Given the description of an element on the screen output the (x, y) to click on. 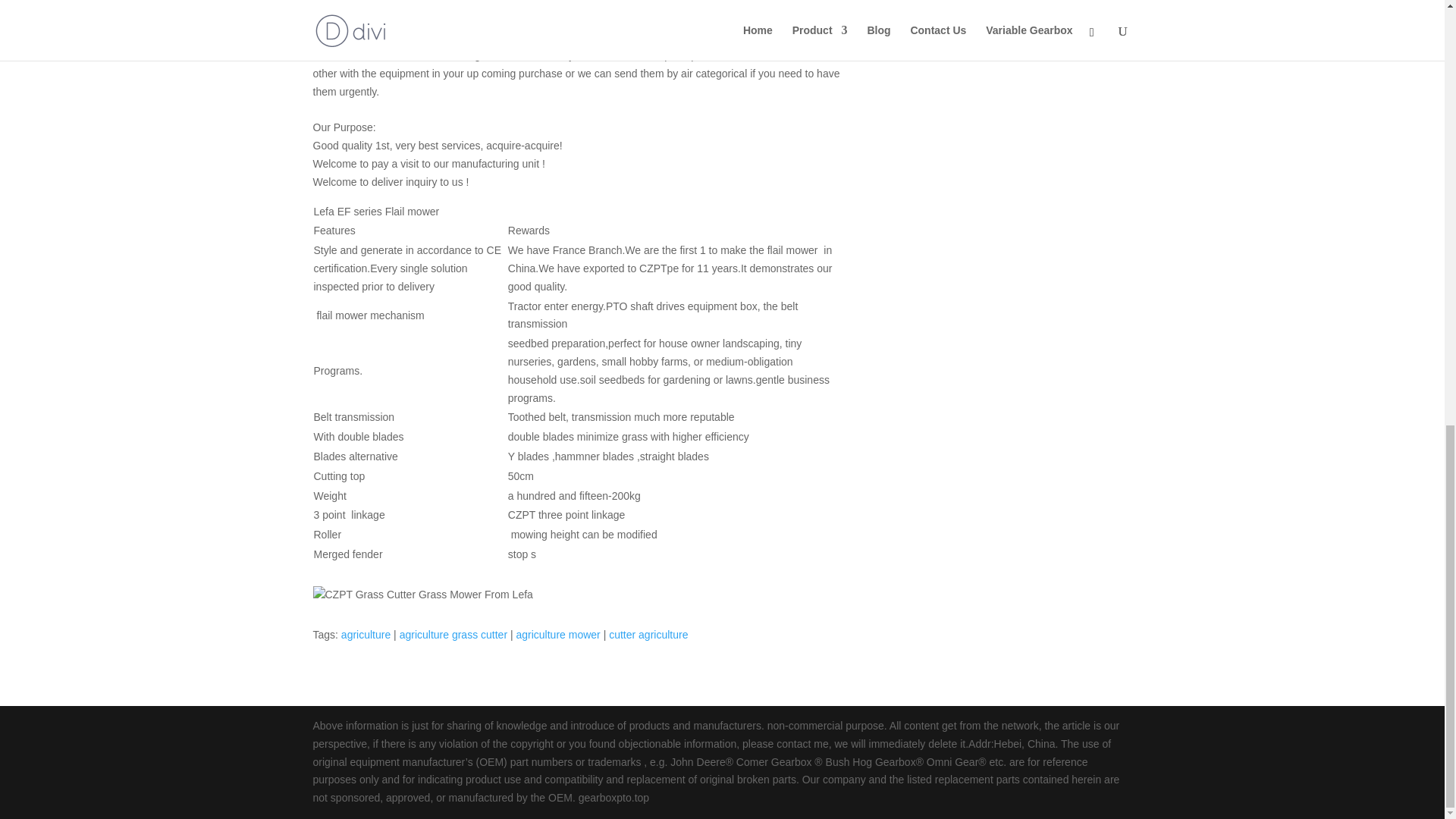
CZPT Grass Cutter Grass Mower From Lefa (422, 595)
agriculture grass cutter (452, 634)
agriculture mower (557, 634)
agriculture (365, 634)
cutter agriculture (647, 634)
